Given the description of an element on the screen output the (x, y) to click on. 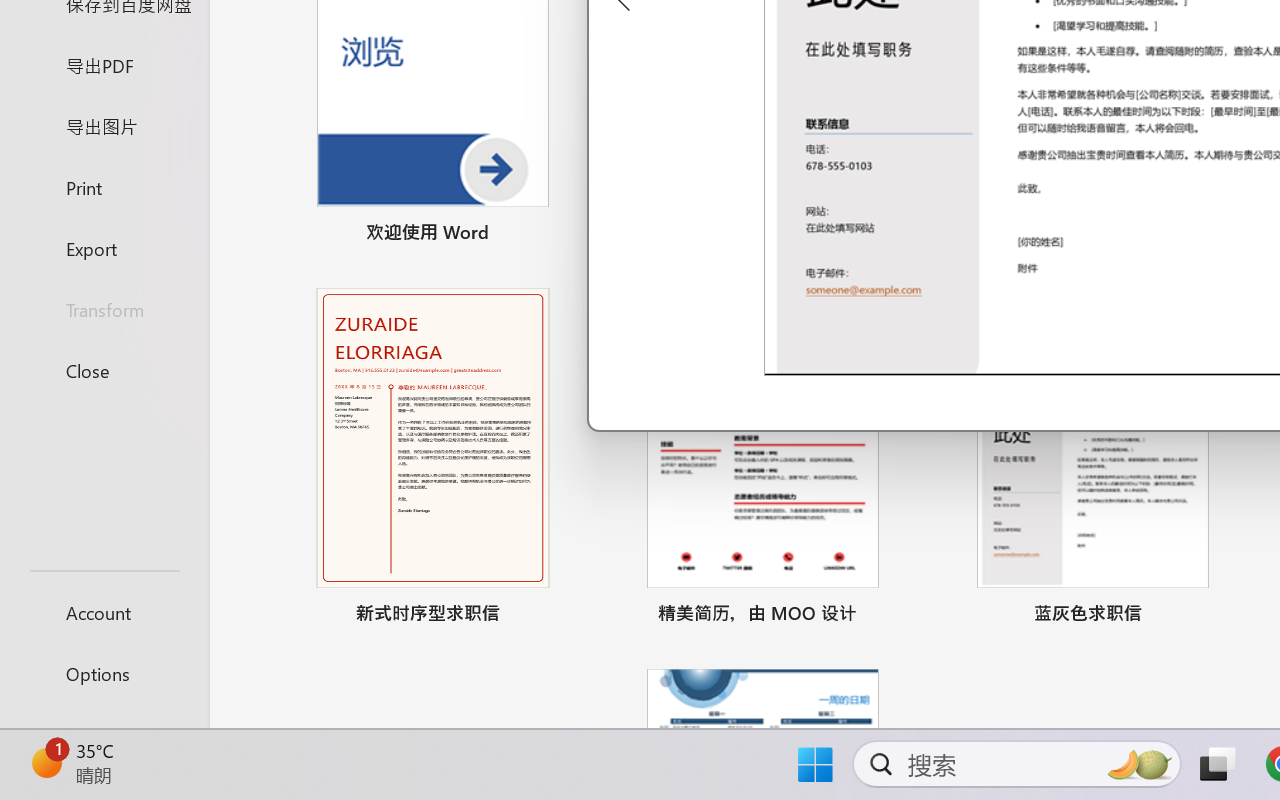
Options (104, 673)
